Given the description of an element on the screen output the (x, y) to click on. 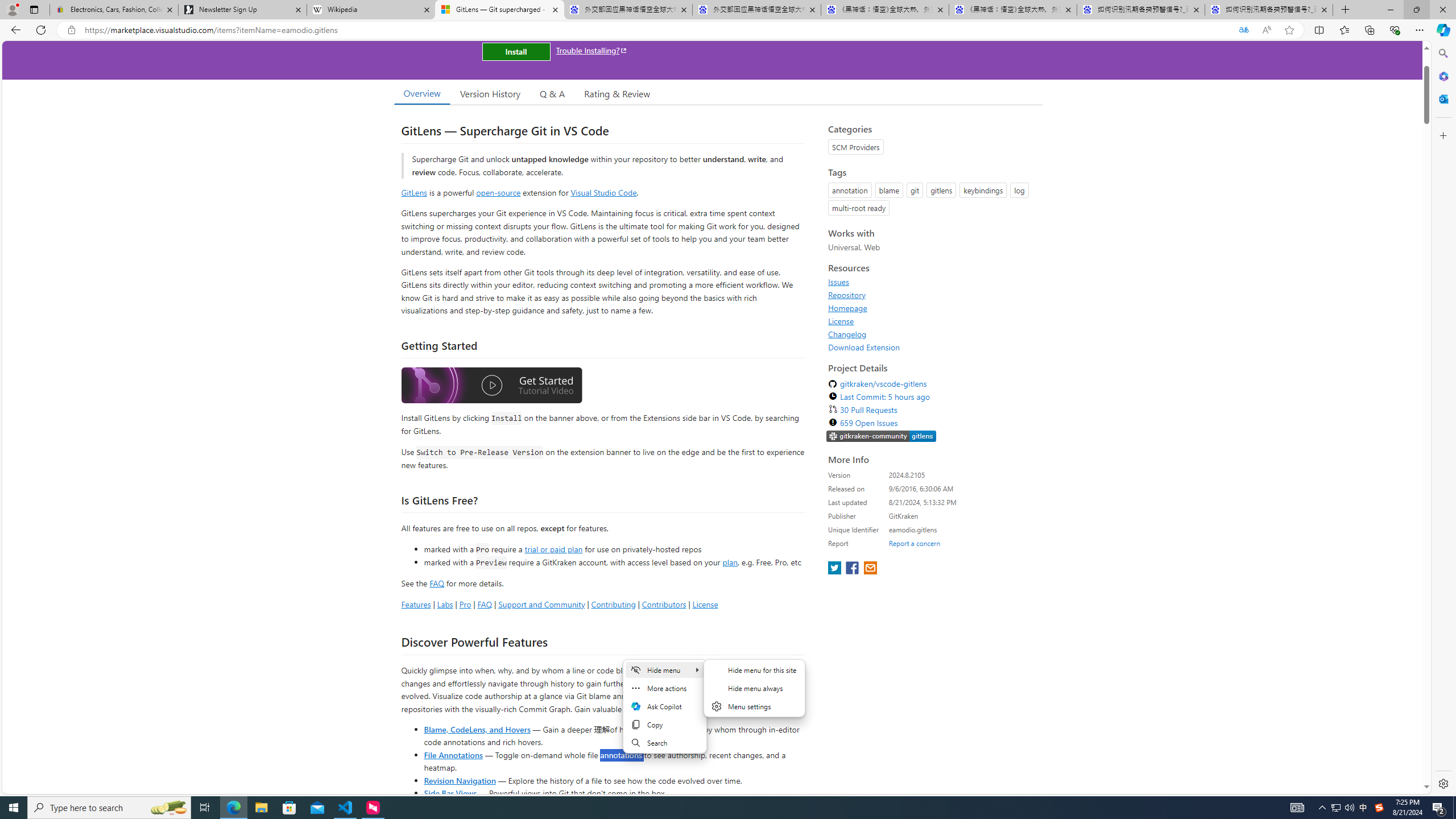
share extension on facebook (853, 568)
Repository (931, 294)
Changelog (931, 333)
Hide menu (754, 688)
